Given the description of an element on the screen output the (x, y) to click on. 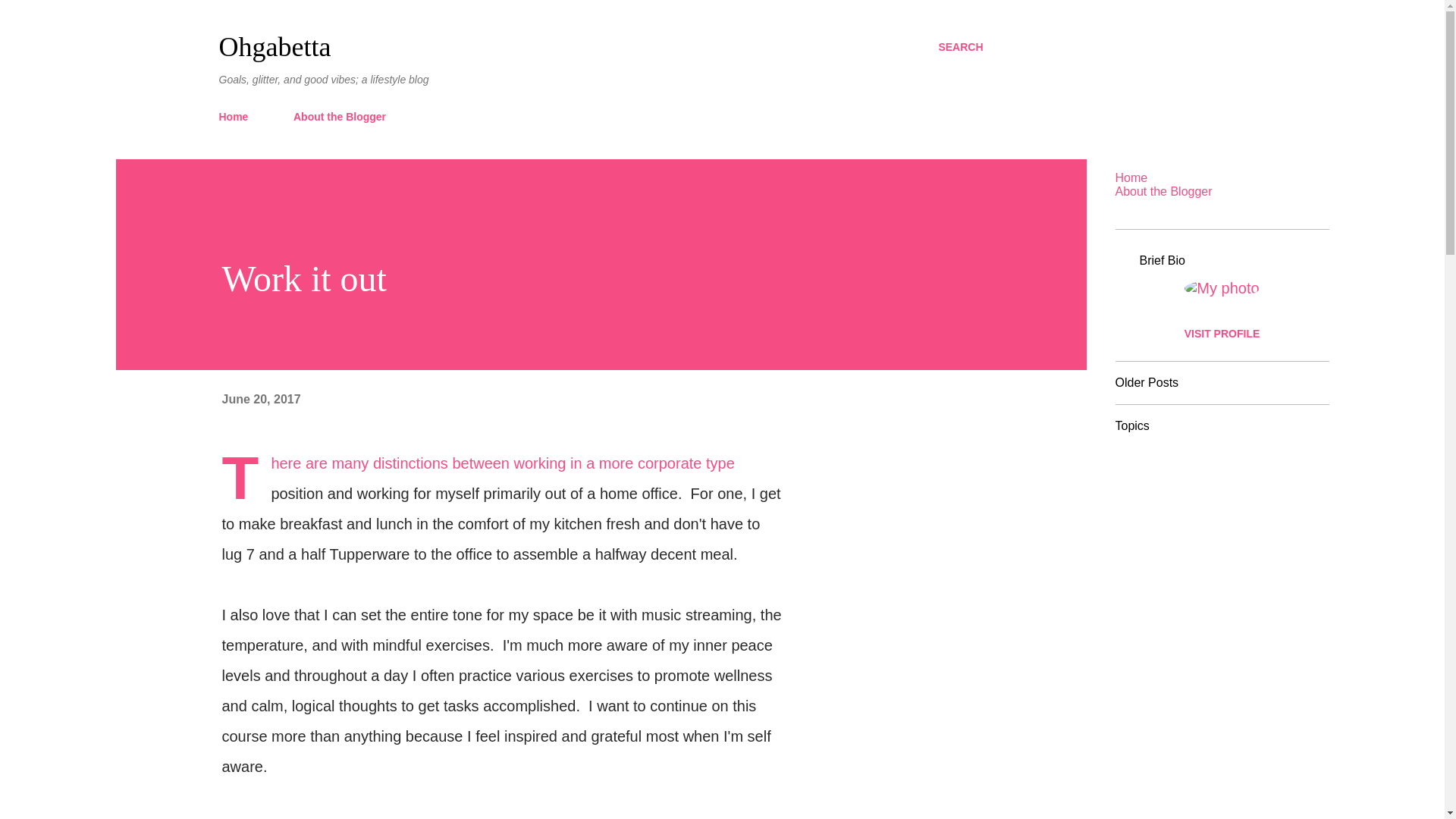
Home (237, 116)
SEARCH (959, 46)
About the Blogger (338, 116)
Ohgabetta (274, 46)
permanent link (260, 399)
June 20, 2017 (260, 399)
